Given the description of an element on the screen output the (x, y) to click on. 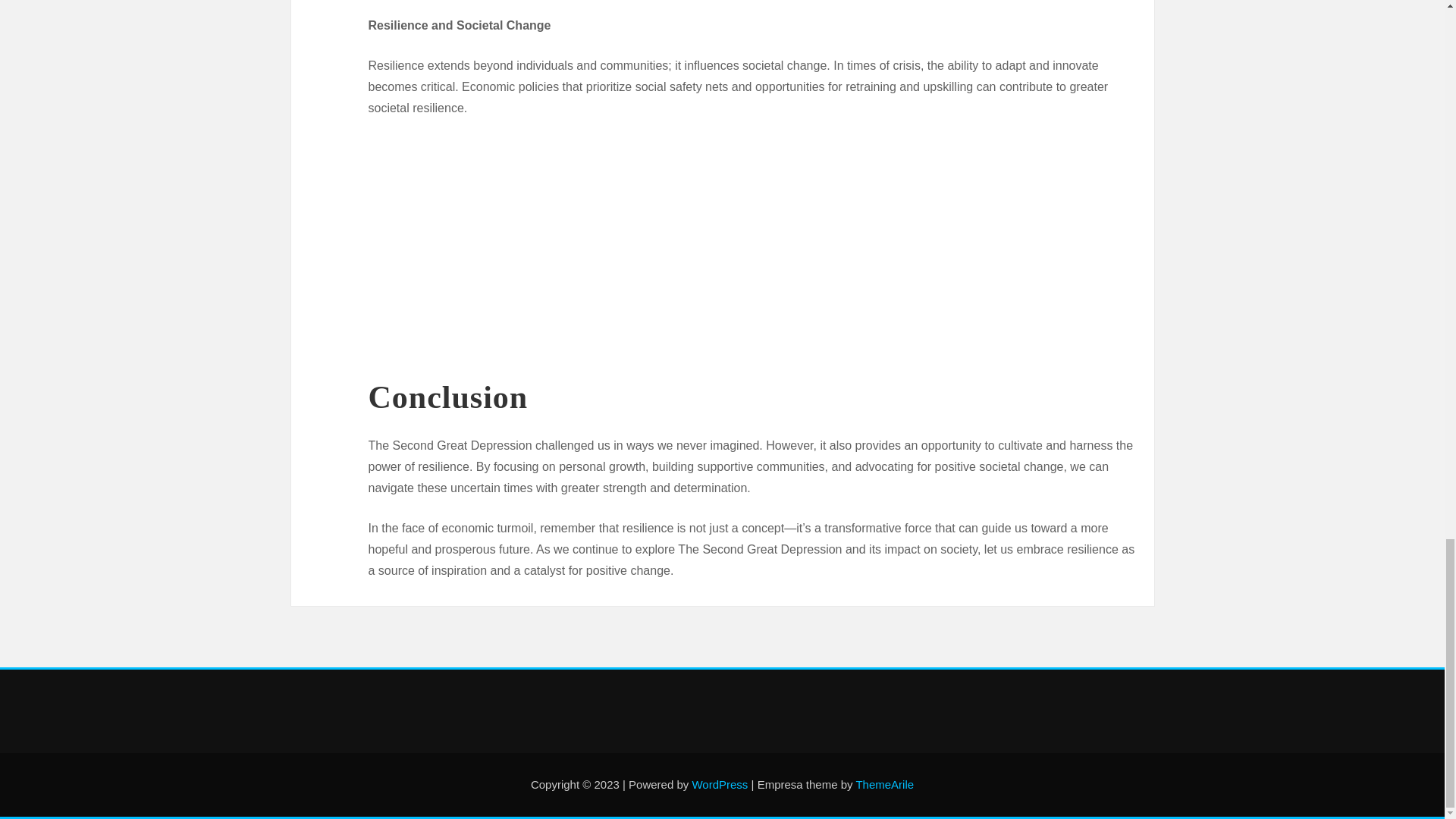
ThemeArile (885, 784)
Signs and symptoms of depression (558, 244)
WordPress (719, 784)
